Given the description of an element on the screen output the (x, y) to click on. 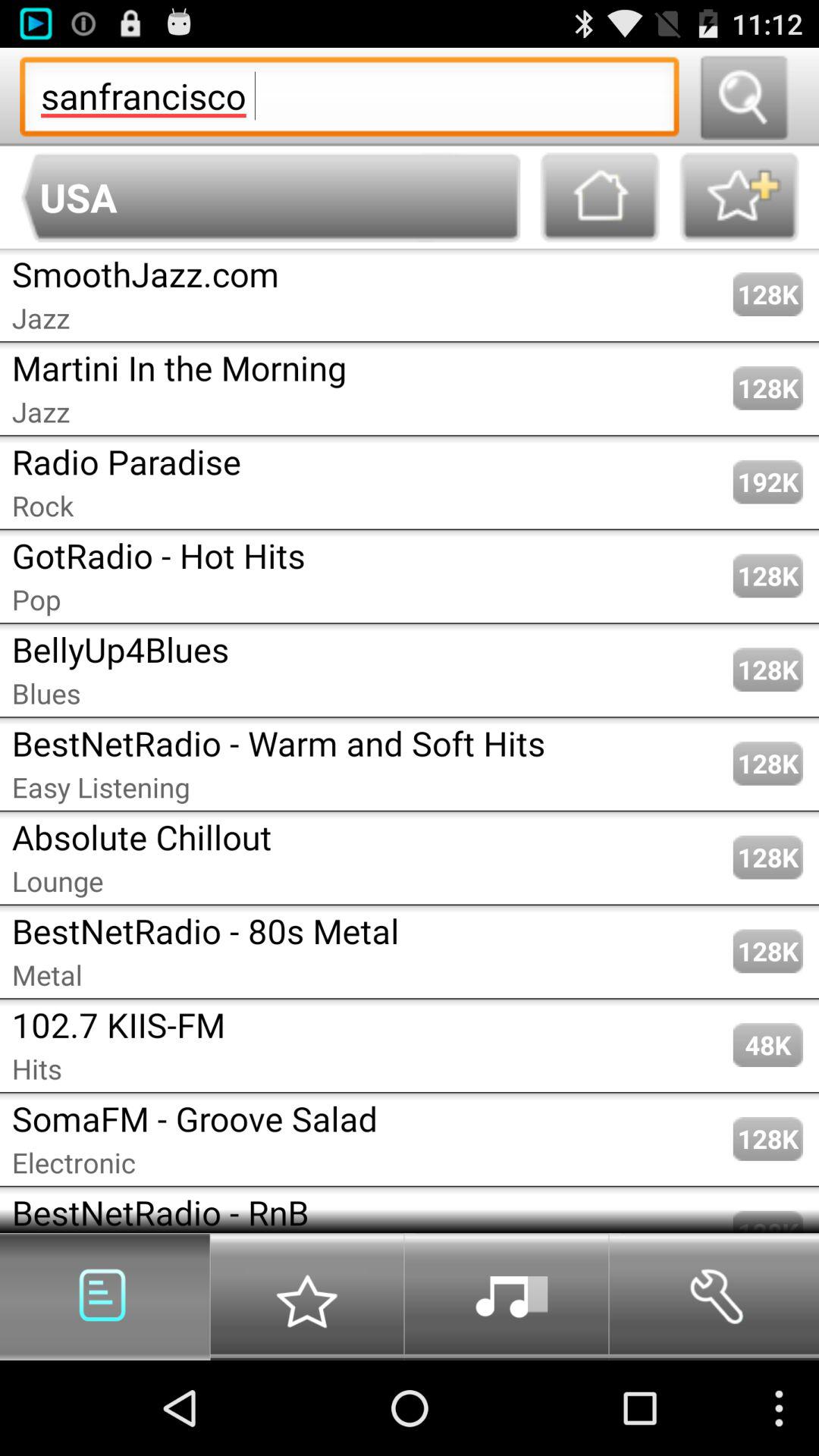
goto home (599, 197)
